Given the description of an element on the screen output the (x, y) to click on. 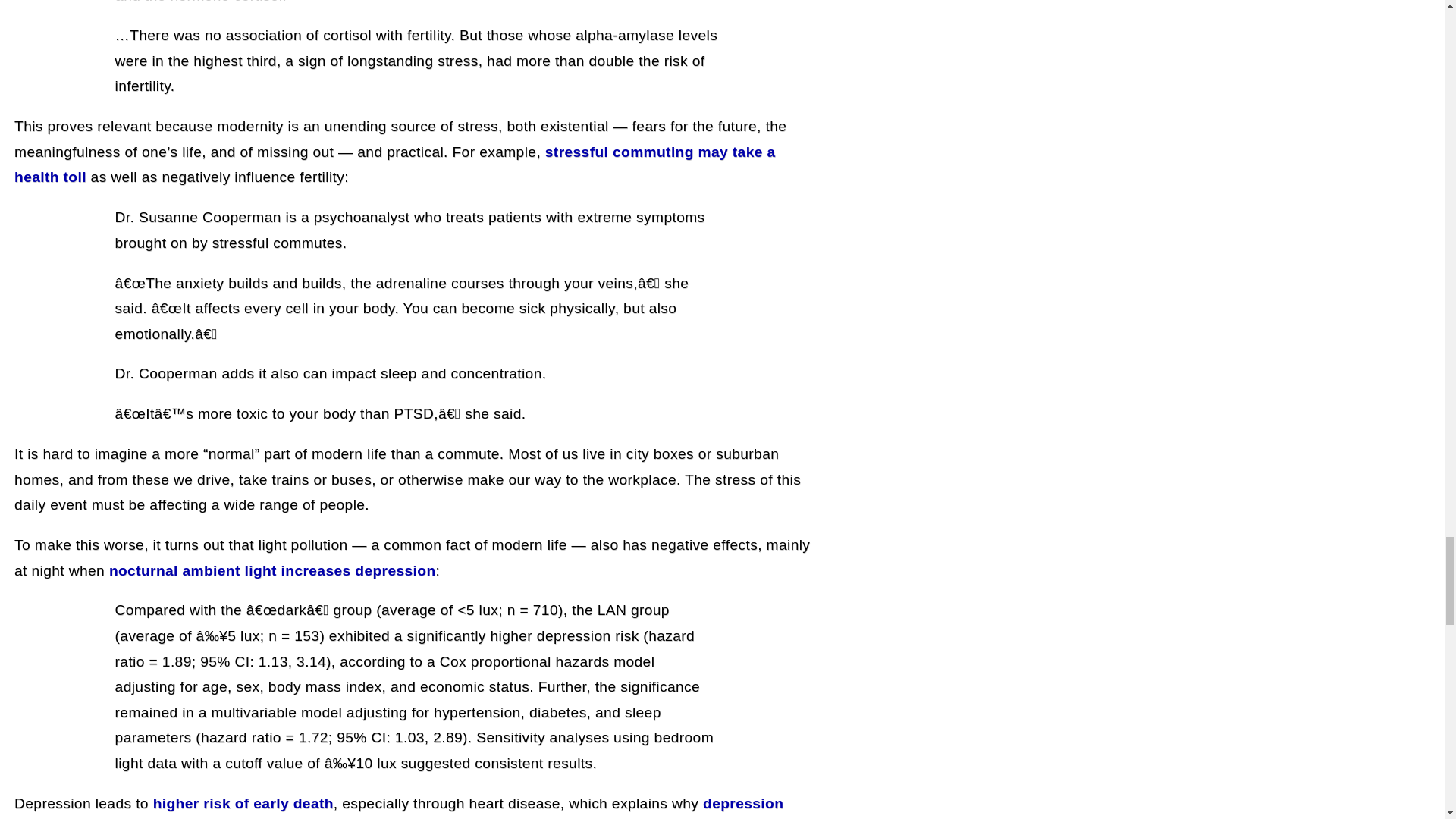
higher risk of early death (242, 803)
stressful commuting may take a health toll (394, 164)
depression shortens lifespans (398, 807)
nocturnal ambient light increases depression (272, 570)
